Given the description of an element on the screen output the (x, y) to click on. 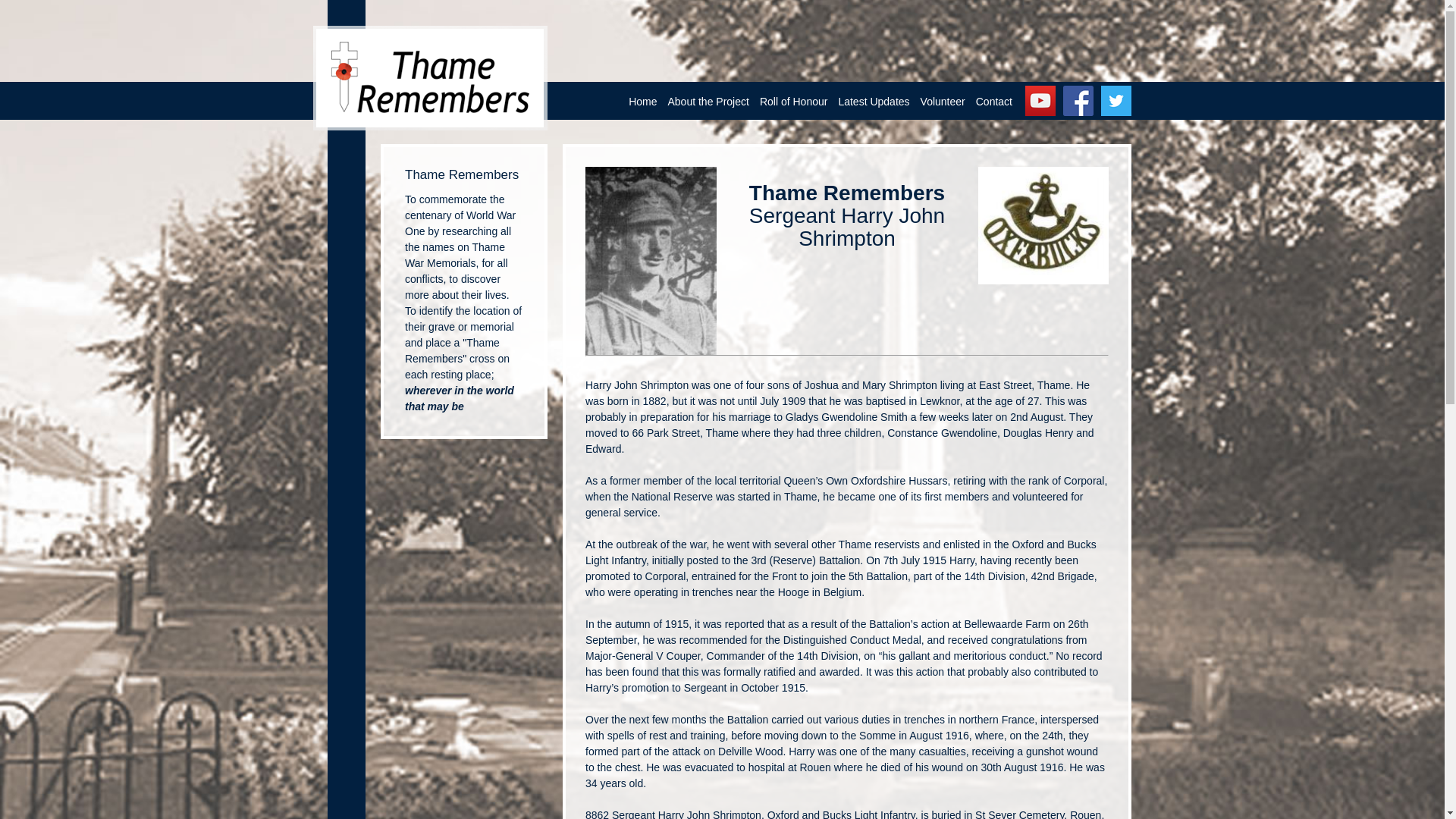
Roll of Honour (793, 101)
Thame Remembers (430, 77)
About the Project (708, 101)
Latest Updates (873, 101)
Volunteer (943, 101)
ThameRemembers Channel on Youtube (1040, 100)
Home (642, 101)
ThameRemembers on Facebook (1077, 100)
Contact (994, 101)
